Given the description of an element on the screen output the (x, y) to click on. 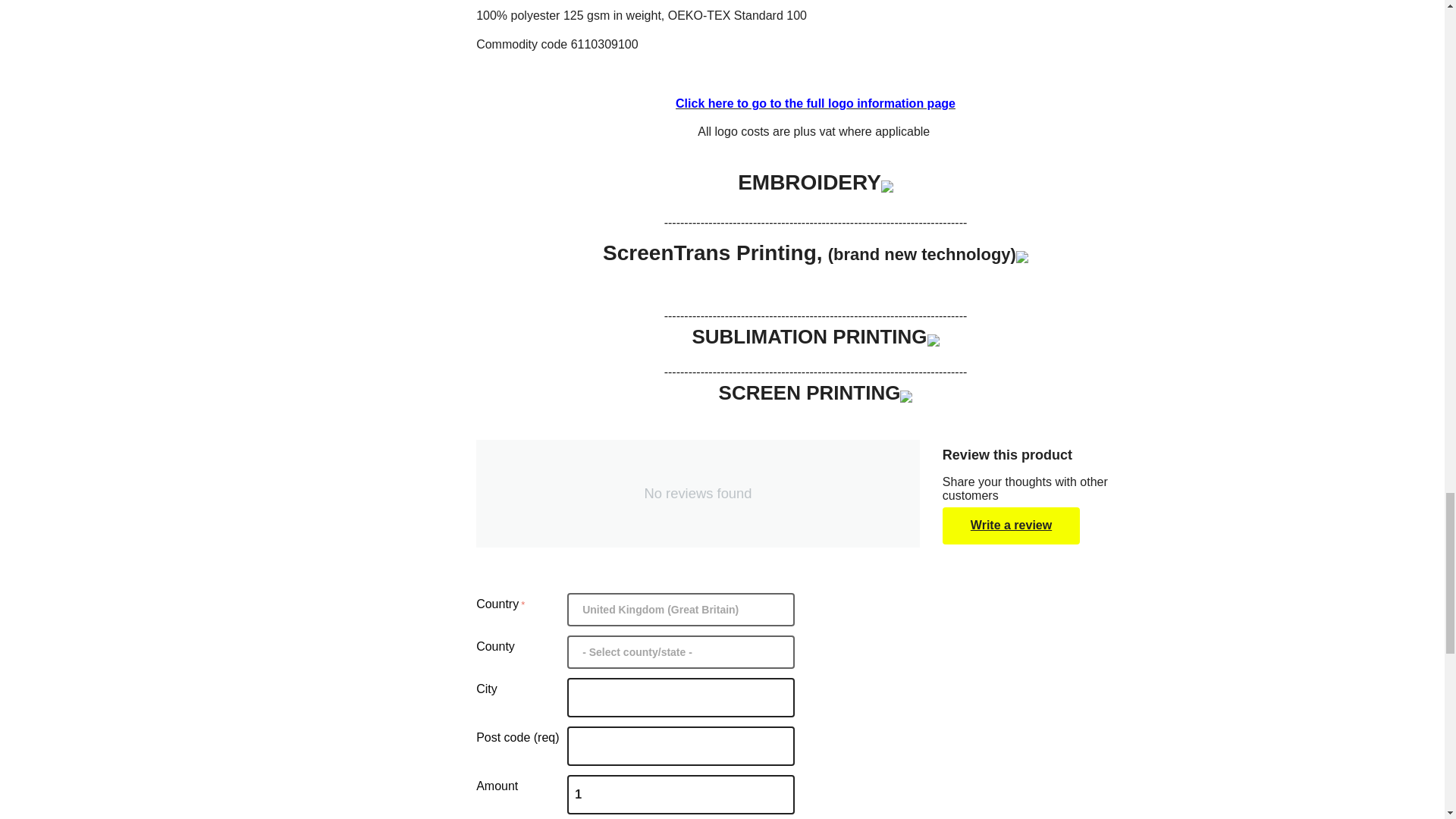
1 (680, 794)
